Given the description of an element on the screen output the (x, y) to click on. 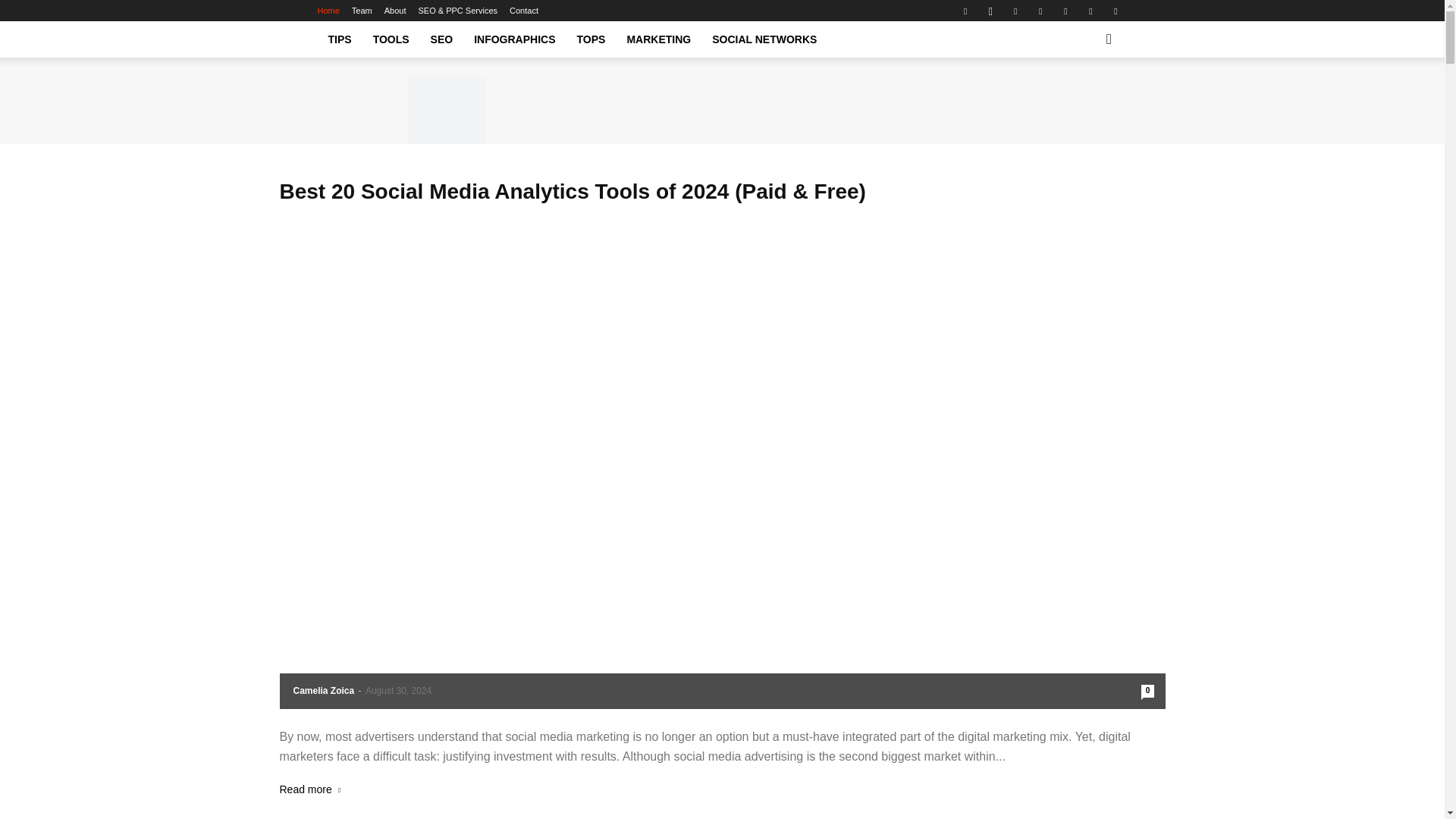
Contact (523, 10)
Linkedin (1015, 10)
Twitter (1090, 10)
Home (328, 10)
Youtube (1114, 10)
Facebook (964, 10)
Pinterest (1040, 10)
Team (362, 10)
RSS (1065, 10)
About (395, 10)
